Given the description of an element on the screen output the (x, y) to click on. 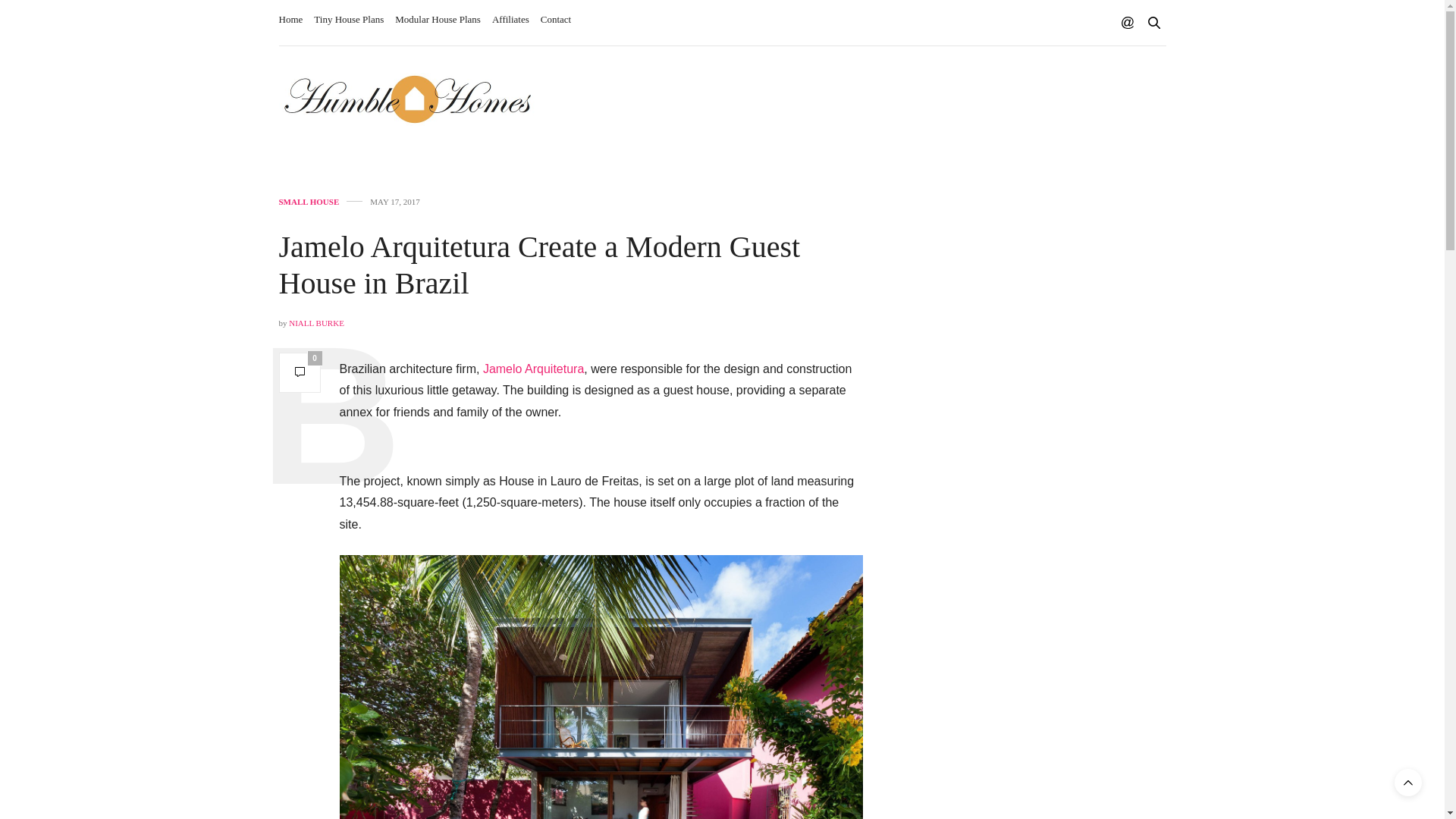
SMALL HOUSE (309, 202)
Home (290, 19)
Affiliates (510, 19)
Humble Homes (407, 98)
Contact (555, 19)
Jamelo Arquitetura (533, 368)
Scroll To Top (1408, 782)
Posts by Niall Burke (315, 322)
Tiny House Plans (349, 19)
Modular House Plans (437, 19)
0 (299, 372)
NIALL BURKE (315, 322)
